Given the description of an element on the screen output the (x, y) to click on. 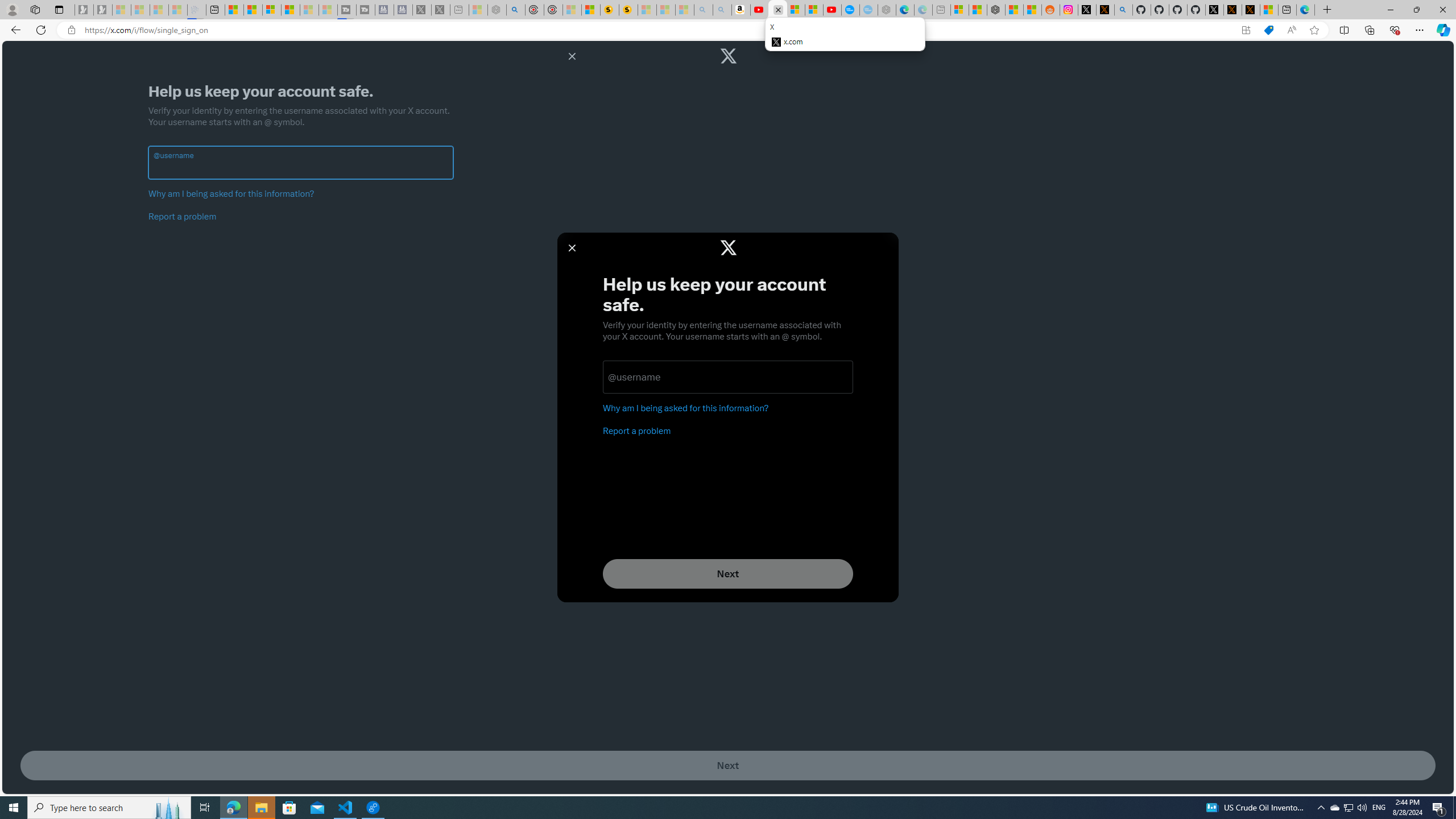
Microsoft account | Microsoft Account Privacy Settings (960, 9)
Next (727, 765)
Shopping in Microsoft Edge (1268, 29)
Nordace - Summer Adventures 2024 - Sleeping (497, 9)
Streaming Coverage | T3 - Sleeping (347, 9)
amazon - Search - Sleeping (702, 9)
Nordace - Duffels (996, 9)
Amazon Echo Dot PNG - Search Images - Sleeping (721, 9)
